Given the description of an element on the screen output the (x, y) to click on. 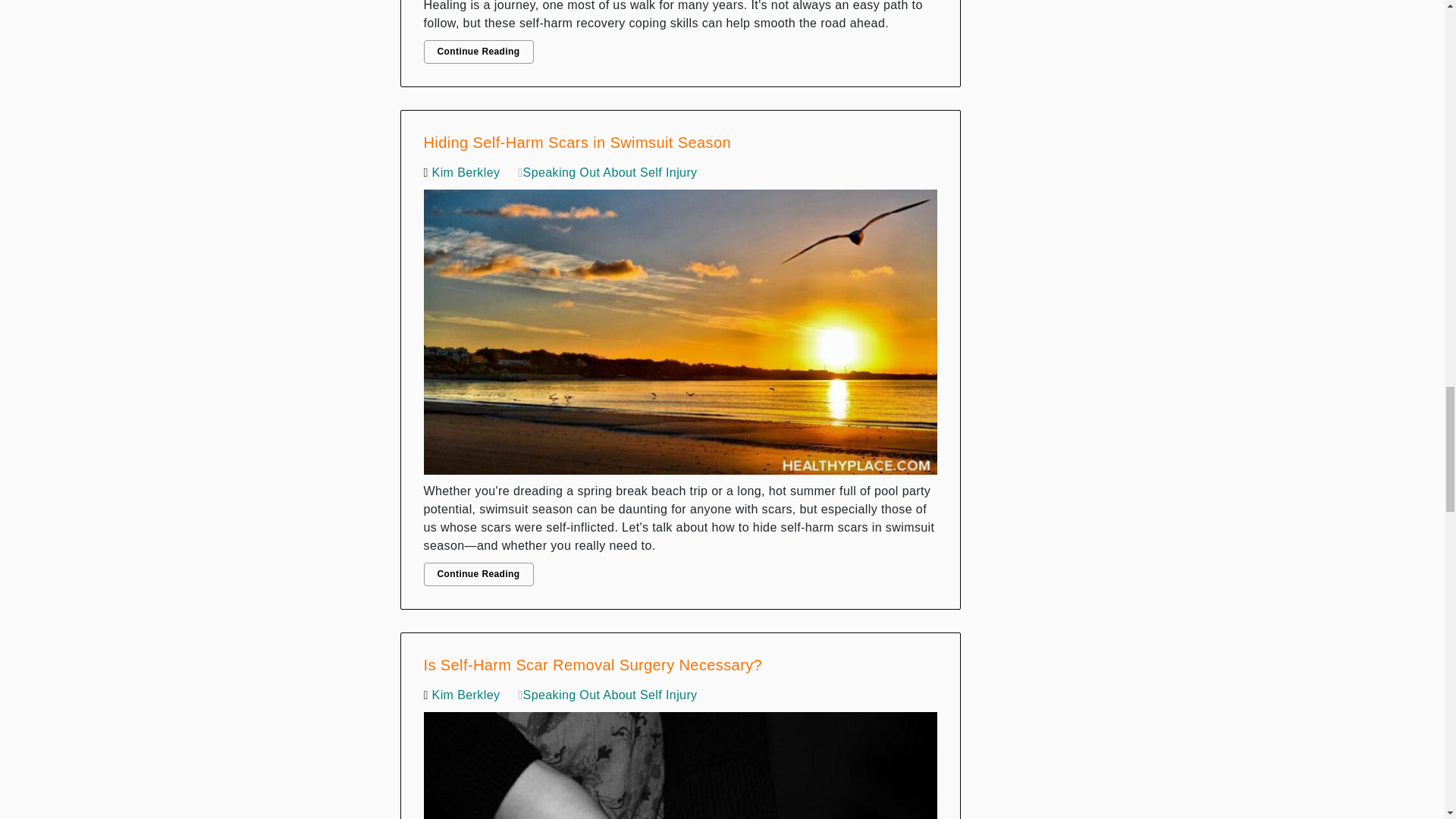
Is Self-Harm Scar Removal Surgery Necessary? (680, 761)
